Given the description of an element on the screen output the (x, y) to click on. 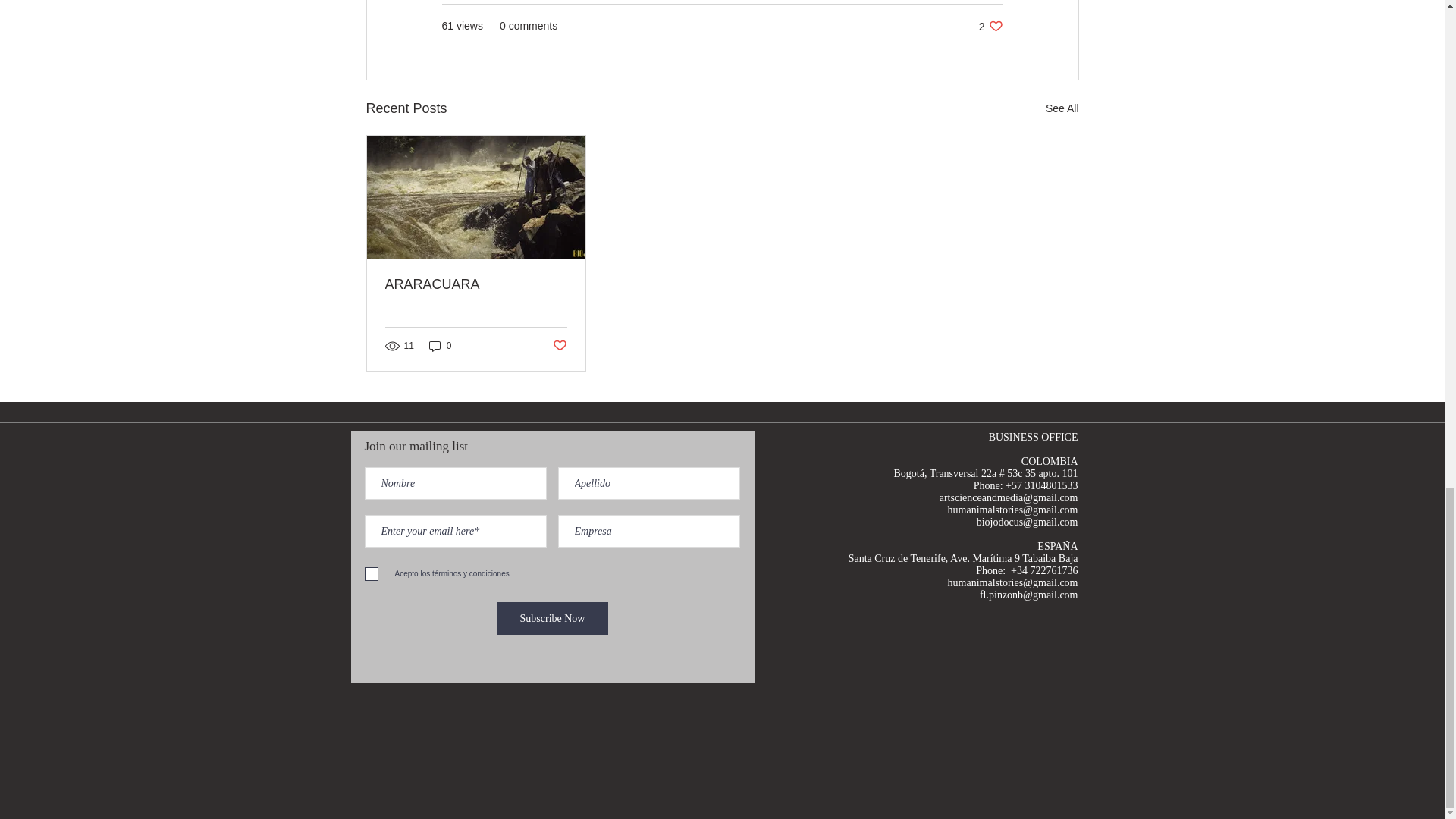
ARARACUARA (476, 284)
See All (1061, 108)
Post not marked as liked (558, 345)
Subscribe Now (990, 25)
0 (552, 617)
